Given the description of an element on the screen output the (x, y) to click on. 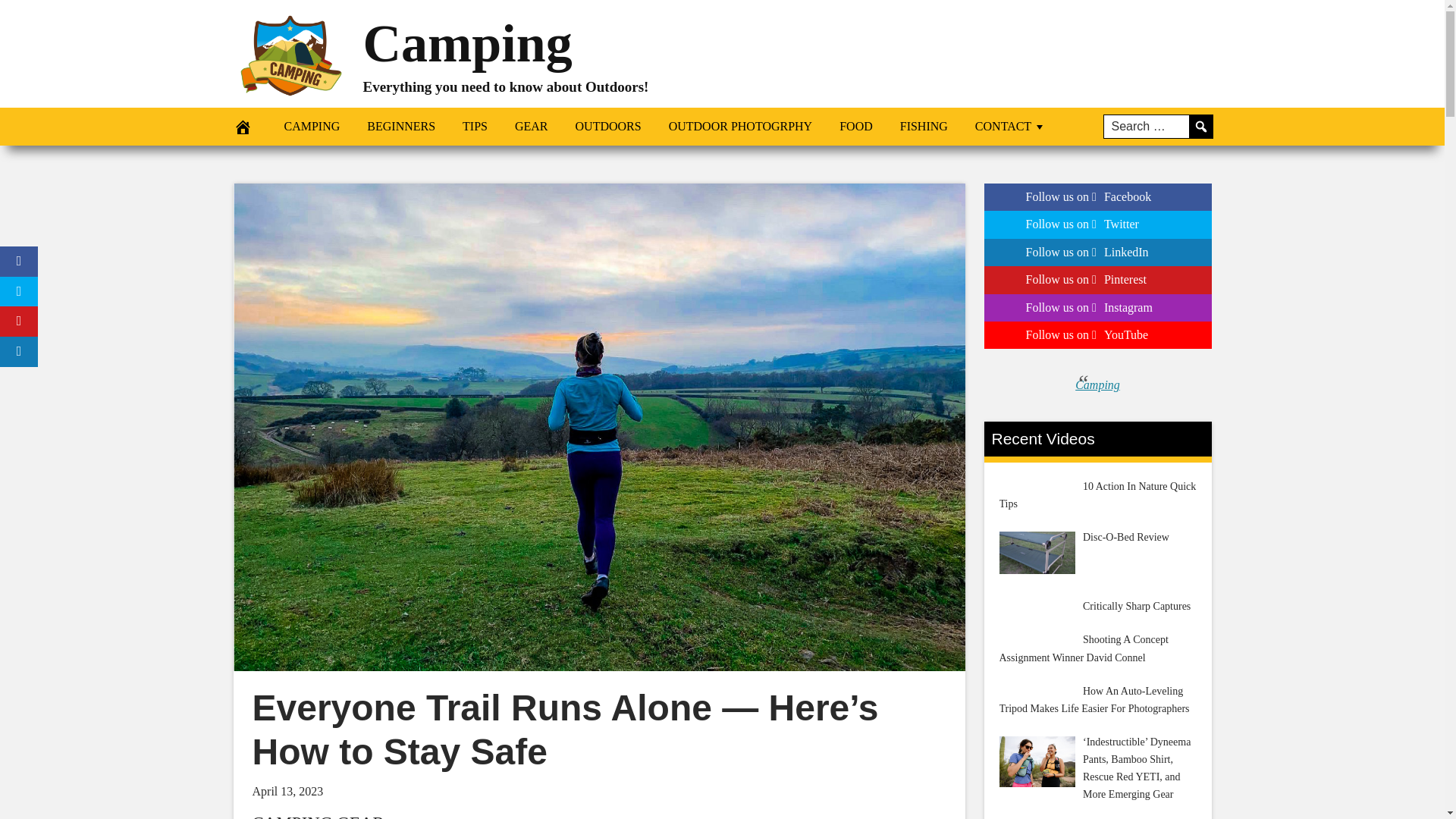
CAMPING (311, 126)
CONTACT (1009, 126)
OUTDOORS (608, 126)
FISHING (923, 126)
Camping (467, 43)
BEGINNERS (400, 126)
CAMPING GEAR (317, 816)
FOOD (855, 126)
TIPS (474, 126)
OUTDOOR PHOTOGRPHY (741, 126)
GEAR (531, 126)
